Given the description of an element on the screen output the (x, y) to click on. 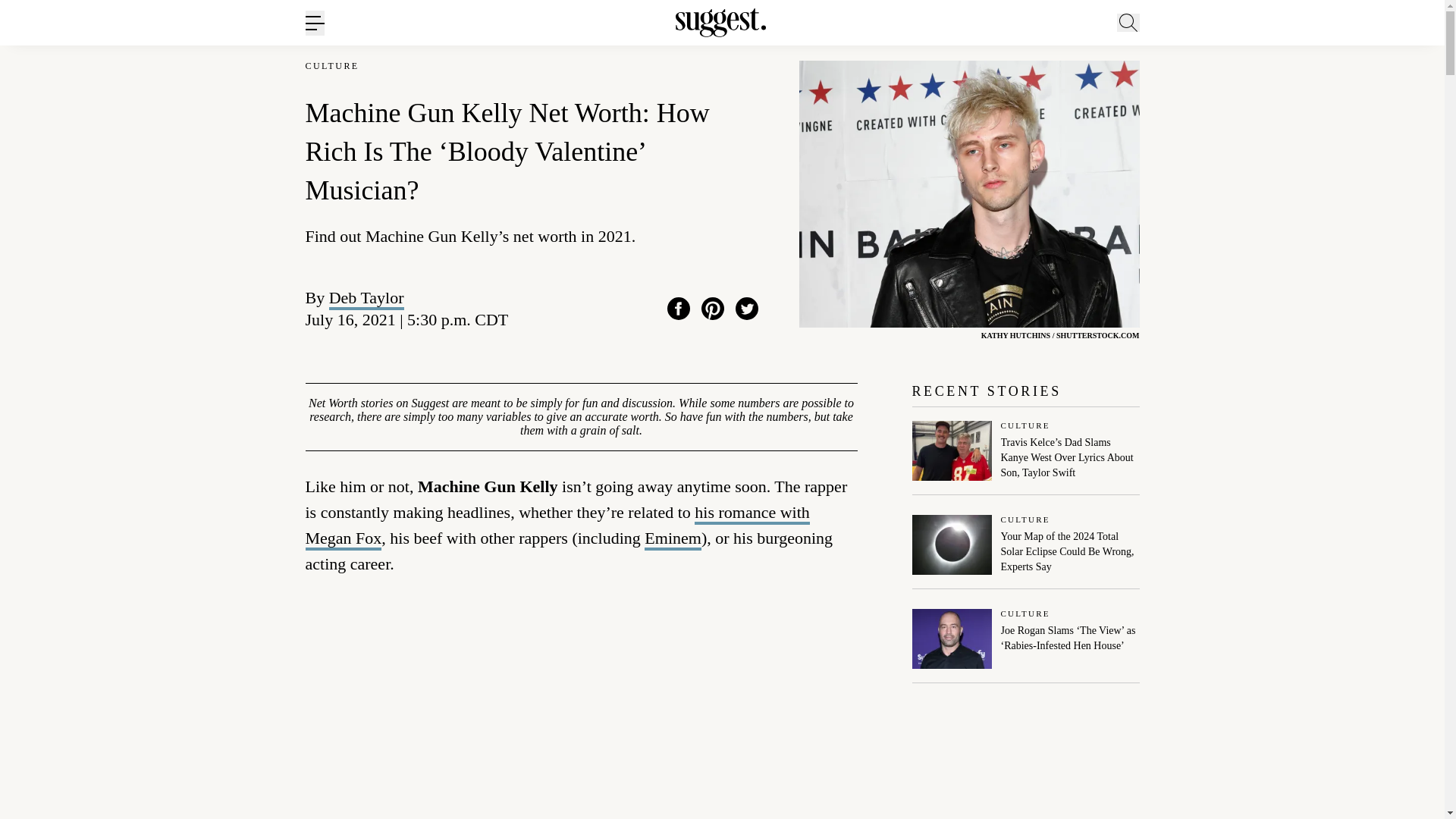
Culture (1070, 426)
Pinterest (712, 308)
his romance with Megan Fox (556, 526)
CULTURE (331, 66)
Facebook (678, 308)
Twitter (746, 308)
Culture (1070, 614)
Deb Taylor (366, 297)
